Given the description of an element on the screen output the (x, y) to click on. 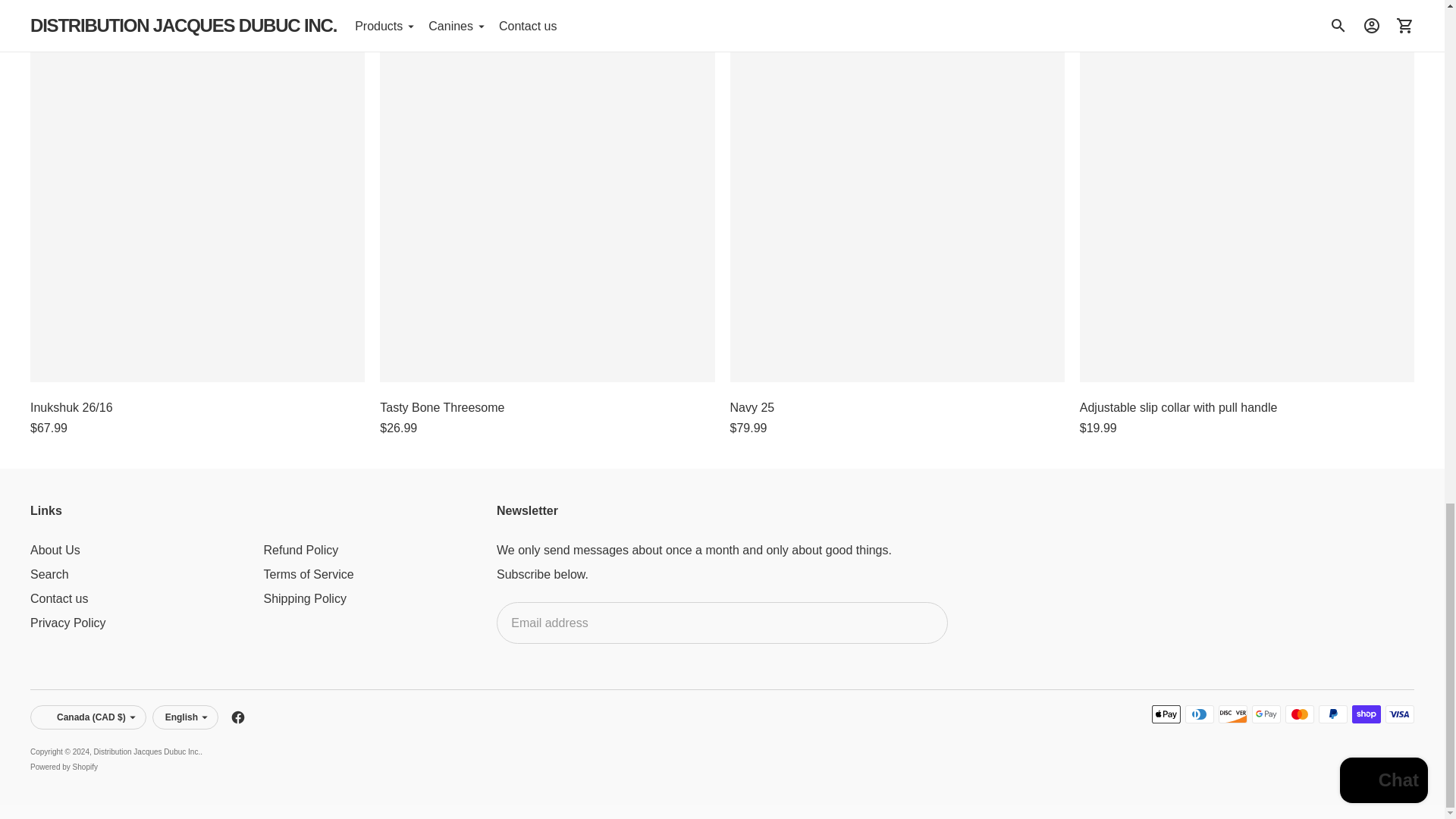
Tasty Bone Threesome (547, 213)
Adjustable slip collar with pull handle (1246, 213)
Navy 25 (896, 213)
Distribution Jacques Dubuc Inc. on Facebook (238, 717)
